Given the description of an element on the screen output the (x, y) to click on. 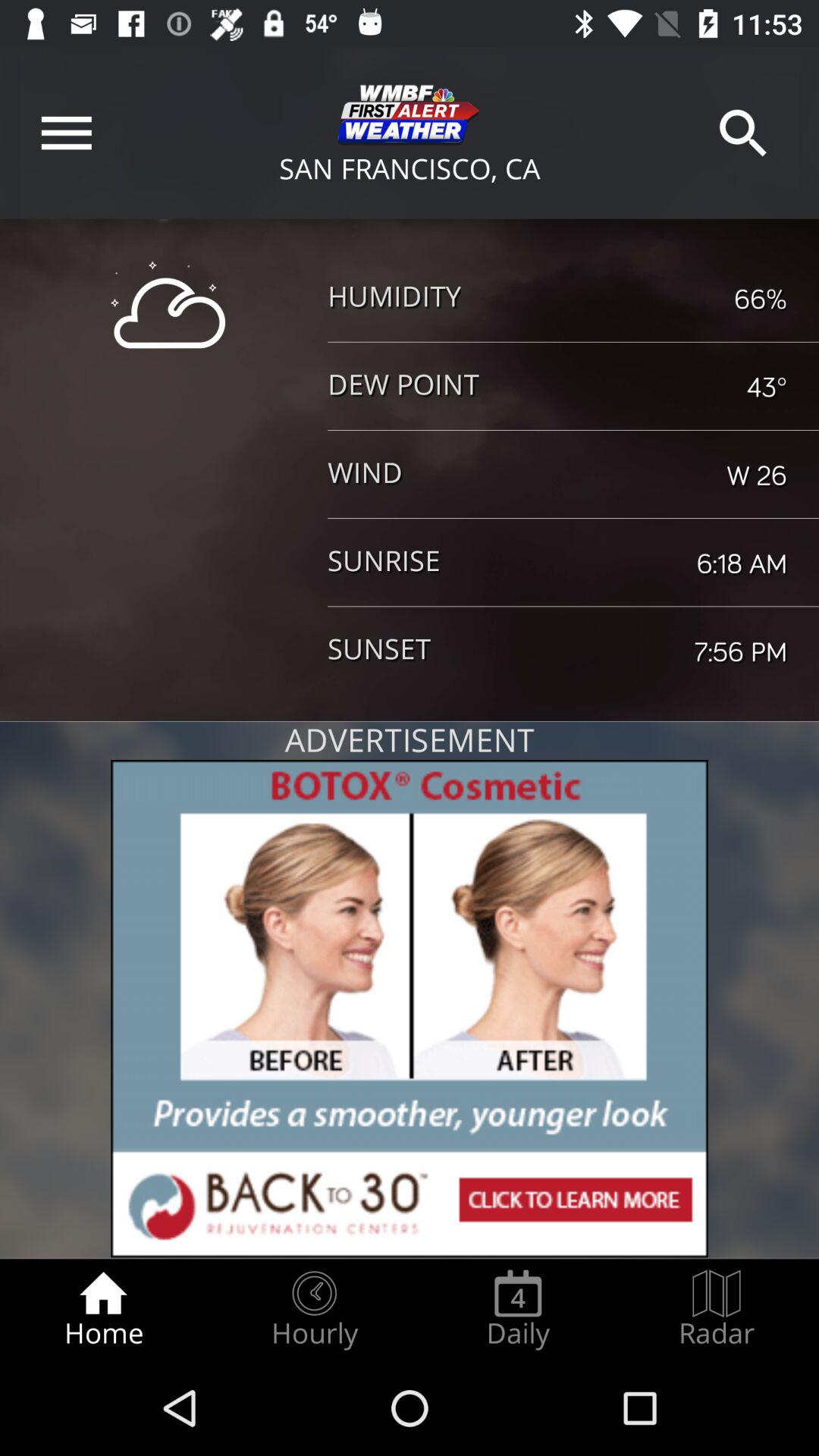
swipe to radar item (716, 1309)
